Given the description of an element on the screen output the (x, y) to click on. 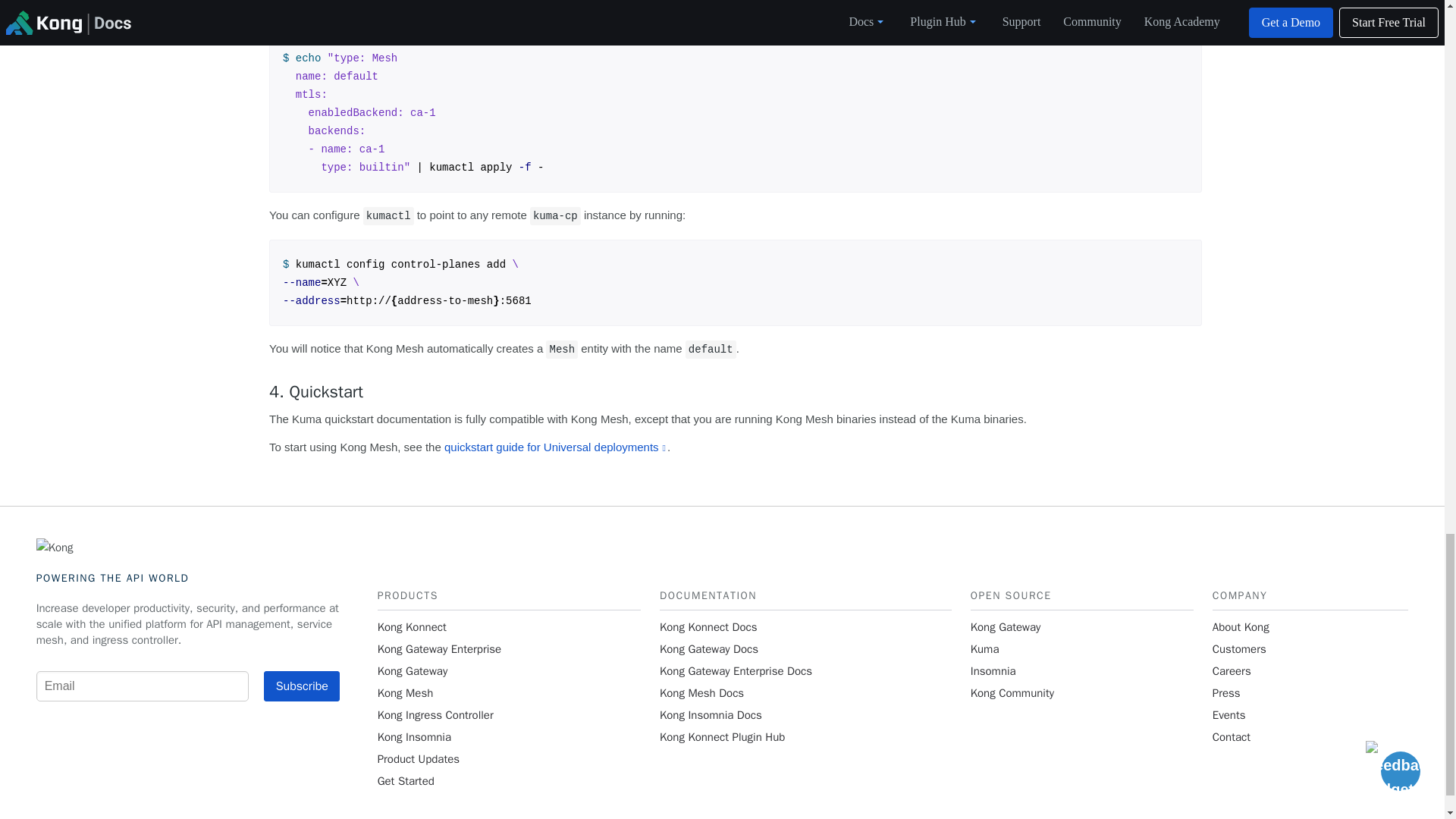
Subscribe (301, 685)
